Given the description of an element on the screen output the (x, y) to click on. 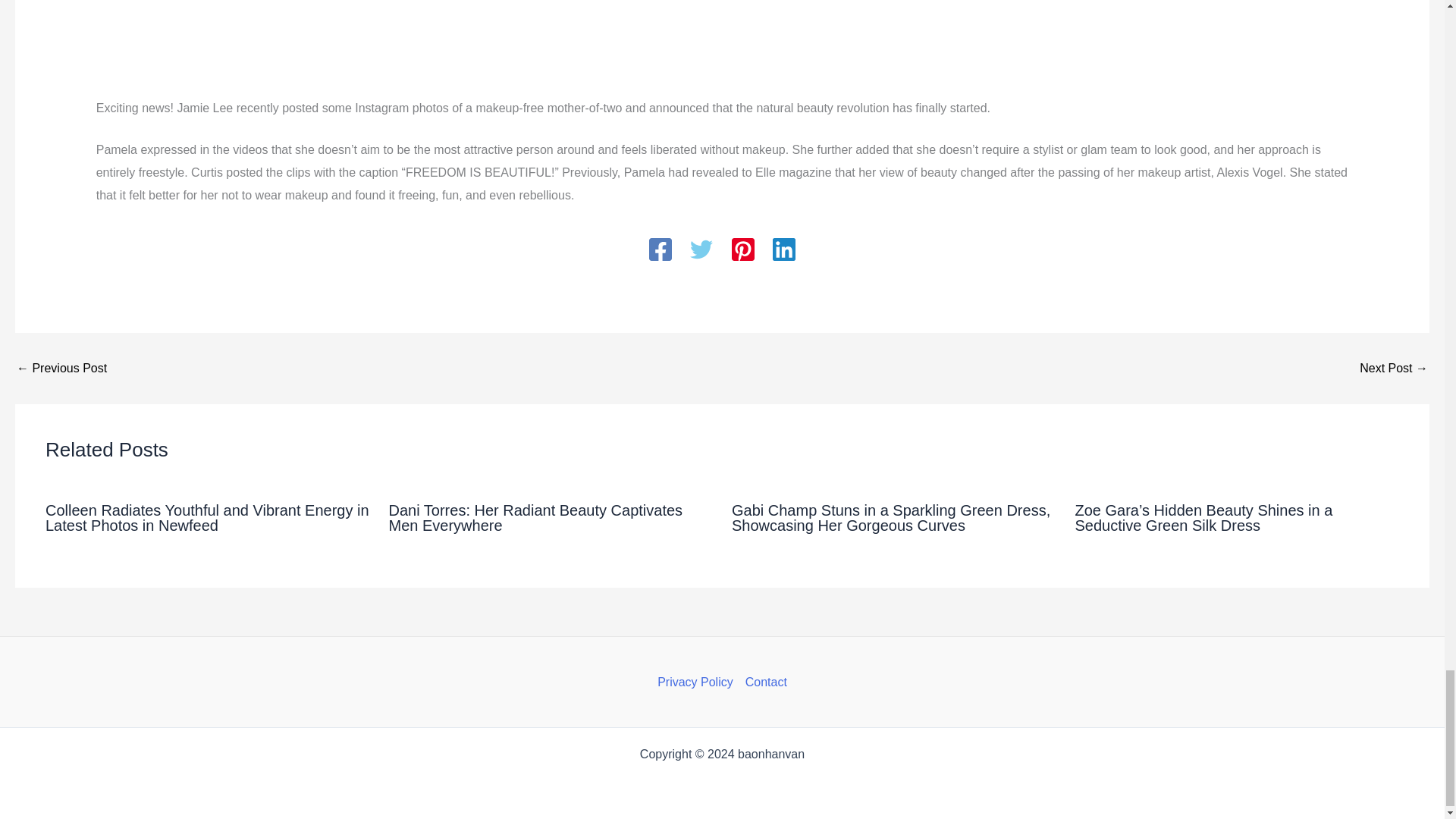
Dani Torres: Her Radiant Beauty Captivates Men Everywhere (535, 517)
Privacy Policy (698, 681)
Contact (763, 681)
